Given the description of an element on the screen output the (x, y) to click on. 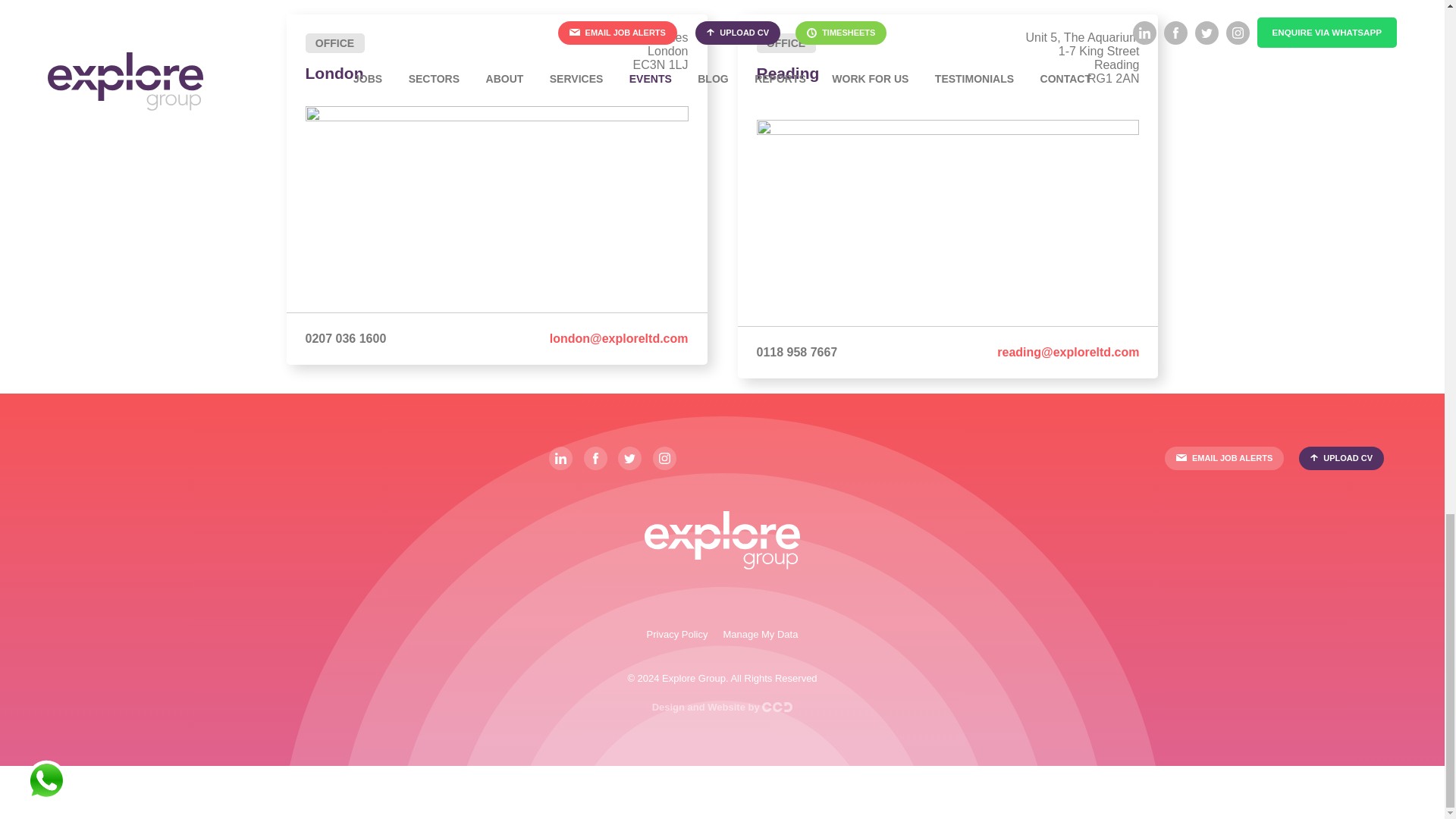
Manage My Data (759, 633)
Privacy Policy (676, 633)
